Given the description of an element on the screen output the (x, y) to click on. 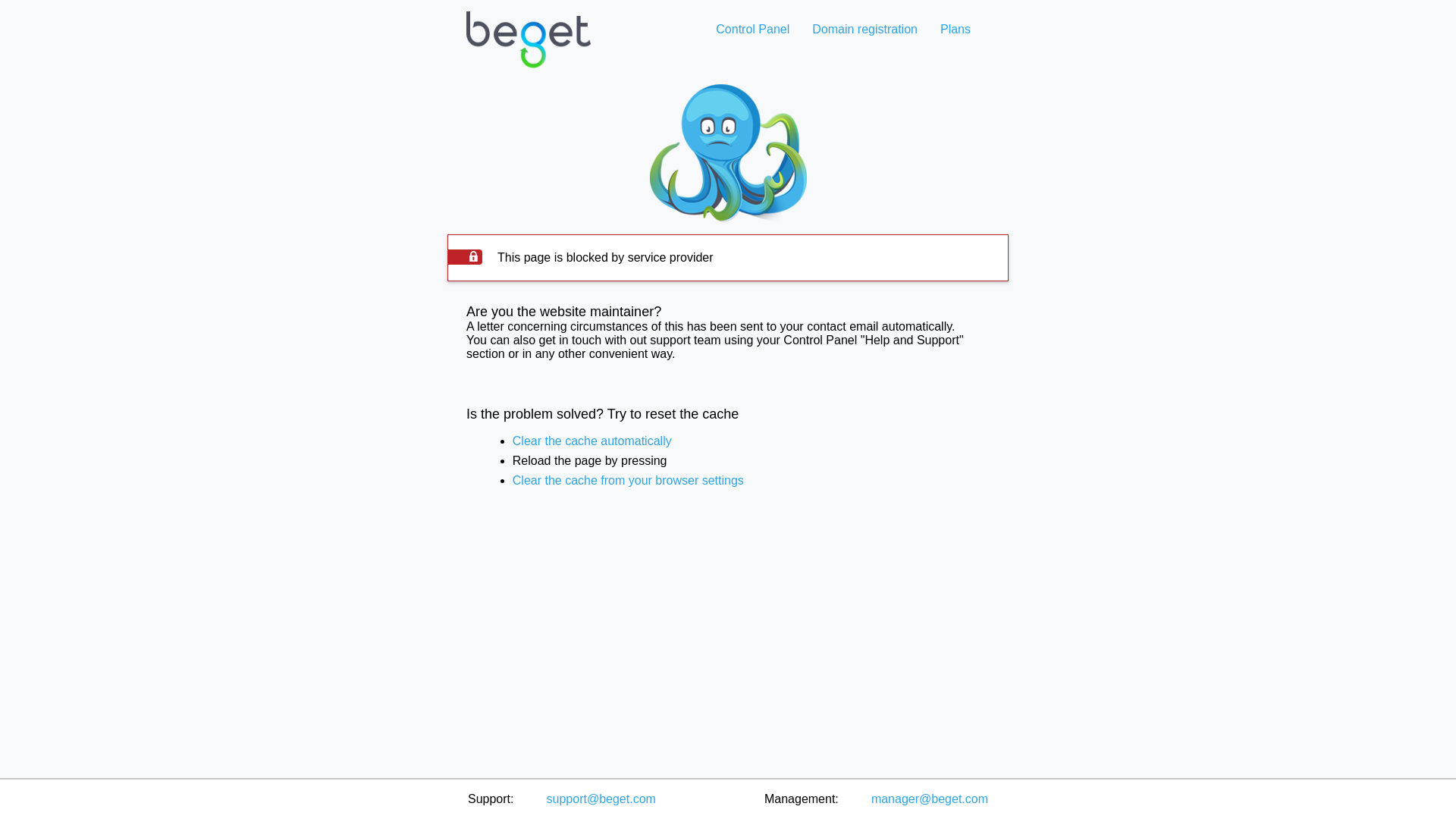
Clear the cache from your browser settings (628, 480)
Control Panel (752, 29)
Plans (954, 29)
Clear the cache automatically (591, 440)
Web hosting home page (528, 51)
Domain registration (864, 29)
